Given the description of an element on the screen output the (x, y) to click on. 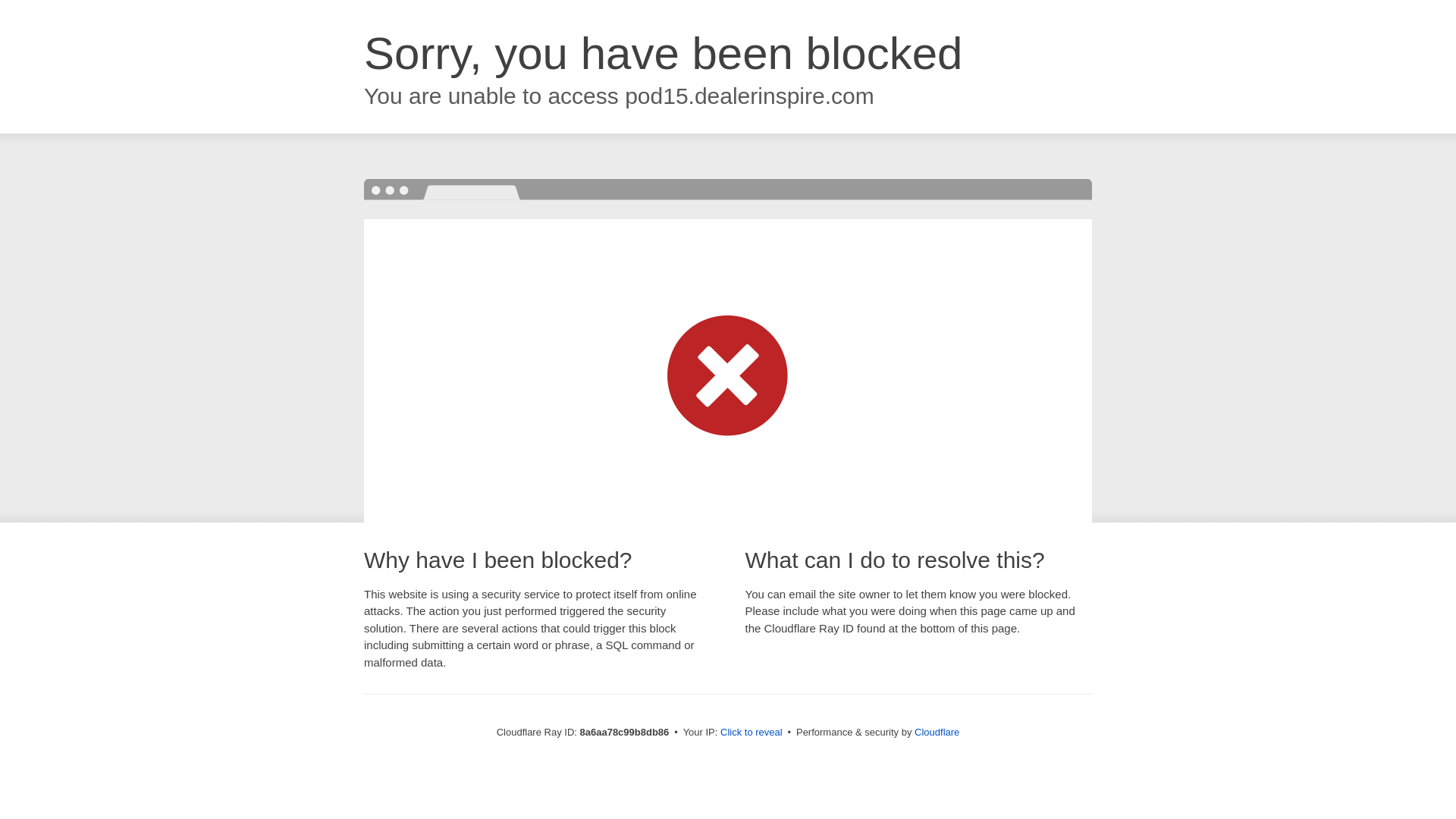
Cloudflare (936, 731)
Click to reveal (751, 732)
